Given the description of an element on the screen output the (x, y) to click on. 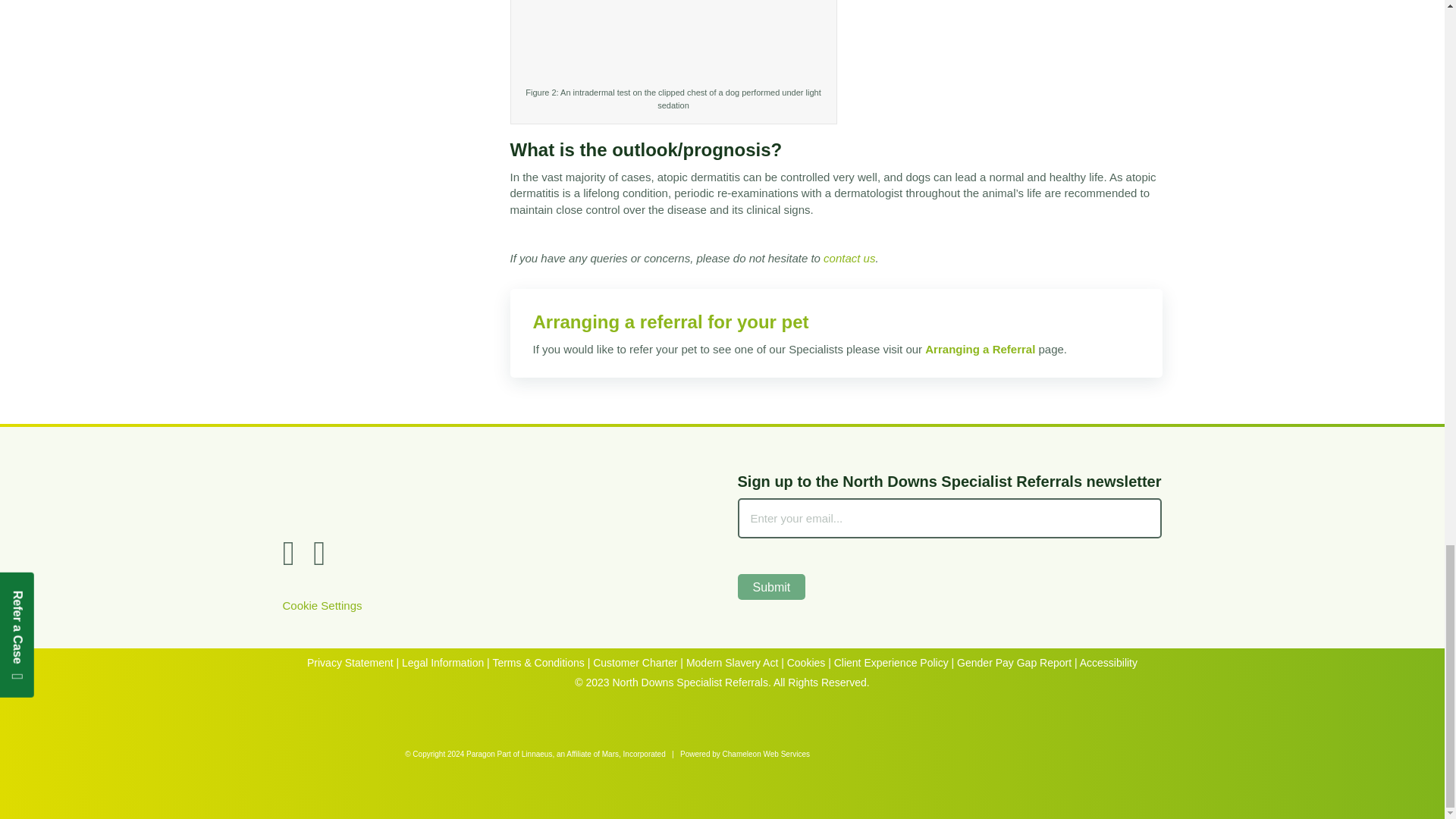
linnaeus-ndsr-logo-equal (494, 493)
Web Design Company (880, 752)
Submit (770, 586)
